Given the description of an element on the screen output the (x, y) to click on. 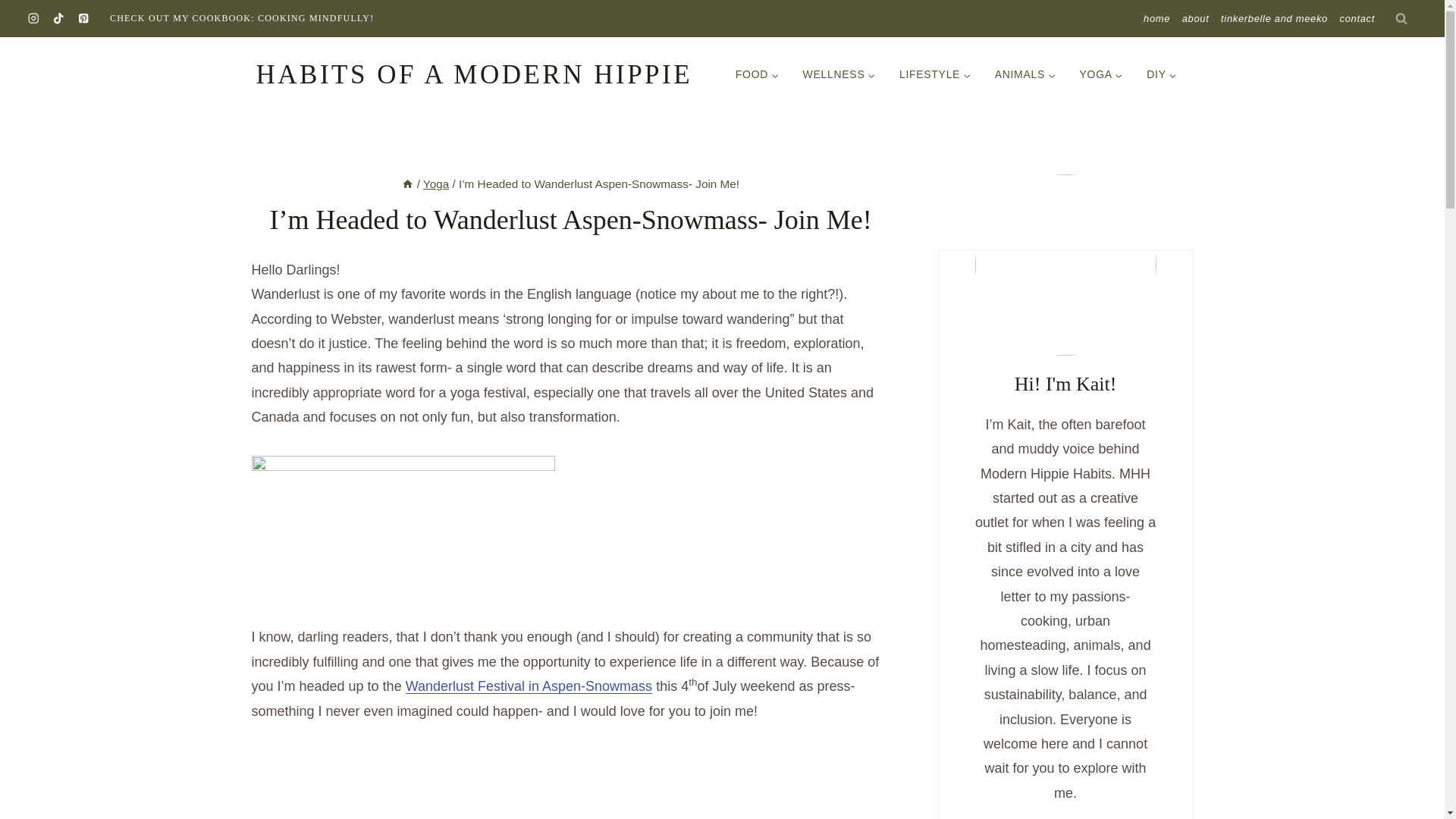
WELLNESS (838, 74)
ANIMALS (1024, 74)
home (1156, 18)
contact (1356, 18)
HABITS OF A MODERN HIPPIE (474, 74)
YOGA (1101, 74)
about (1195, 18)
FOOD (756, 74)
DIY (1162, 74)
LIFESTYLE (934, 74)
